Given the description of an element on the screen output the (x, y) to click on. 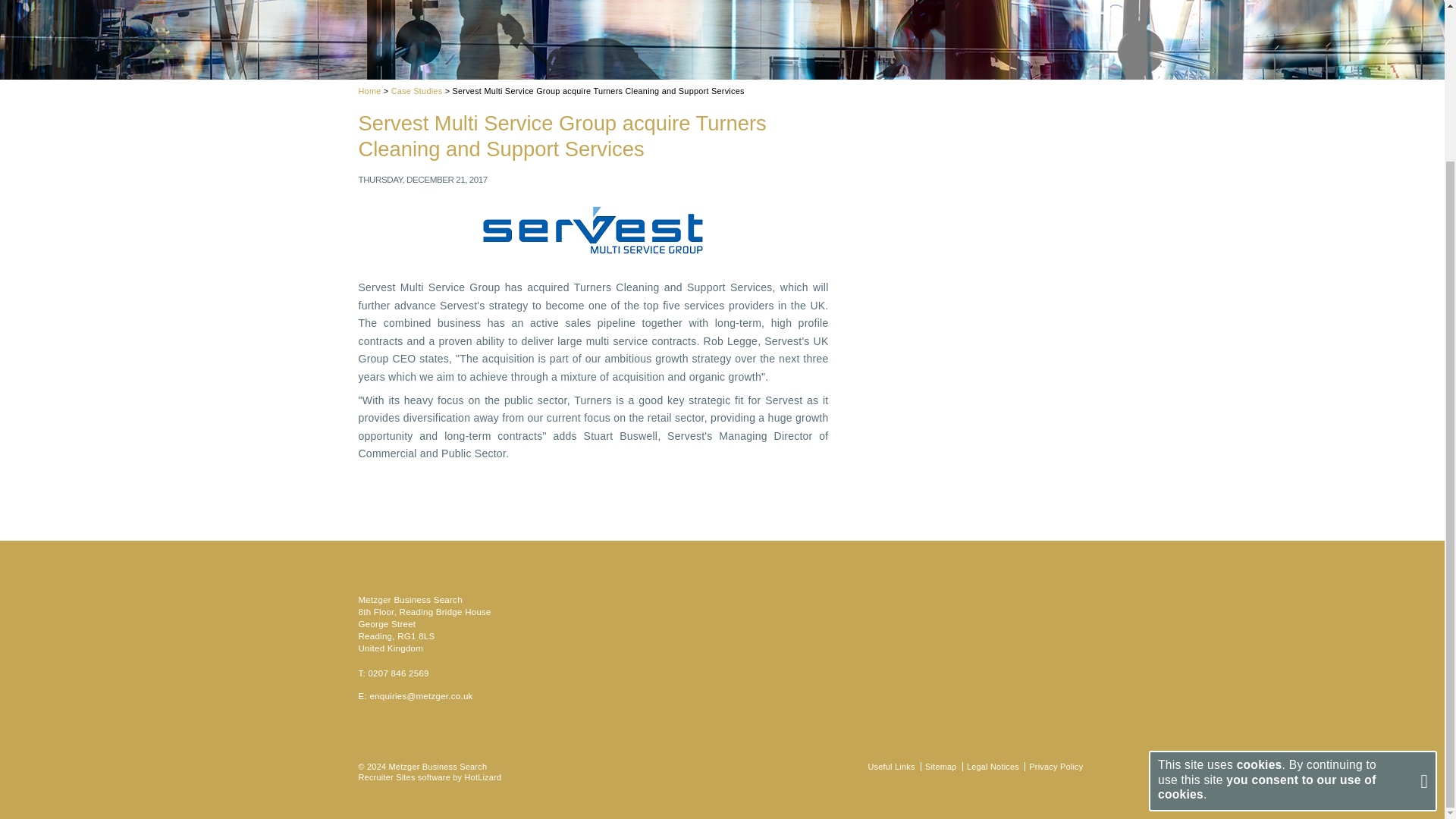
Sitemap (940, 766)
0207 846 2569 (398, 673)
Useful Links (890, 766)
Privacy Policy (1056, 766)
Recruiter Sites (386, 777)
Case Studies (416, 90)
Legal Notices (992, 766)
Home (369, 90)
HotLizard (482, 777)
